Given the description of an element on the screen output the (x, y) to click on. 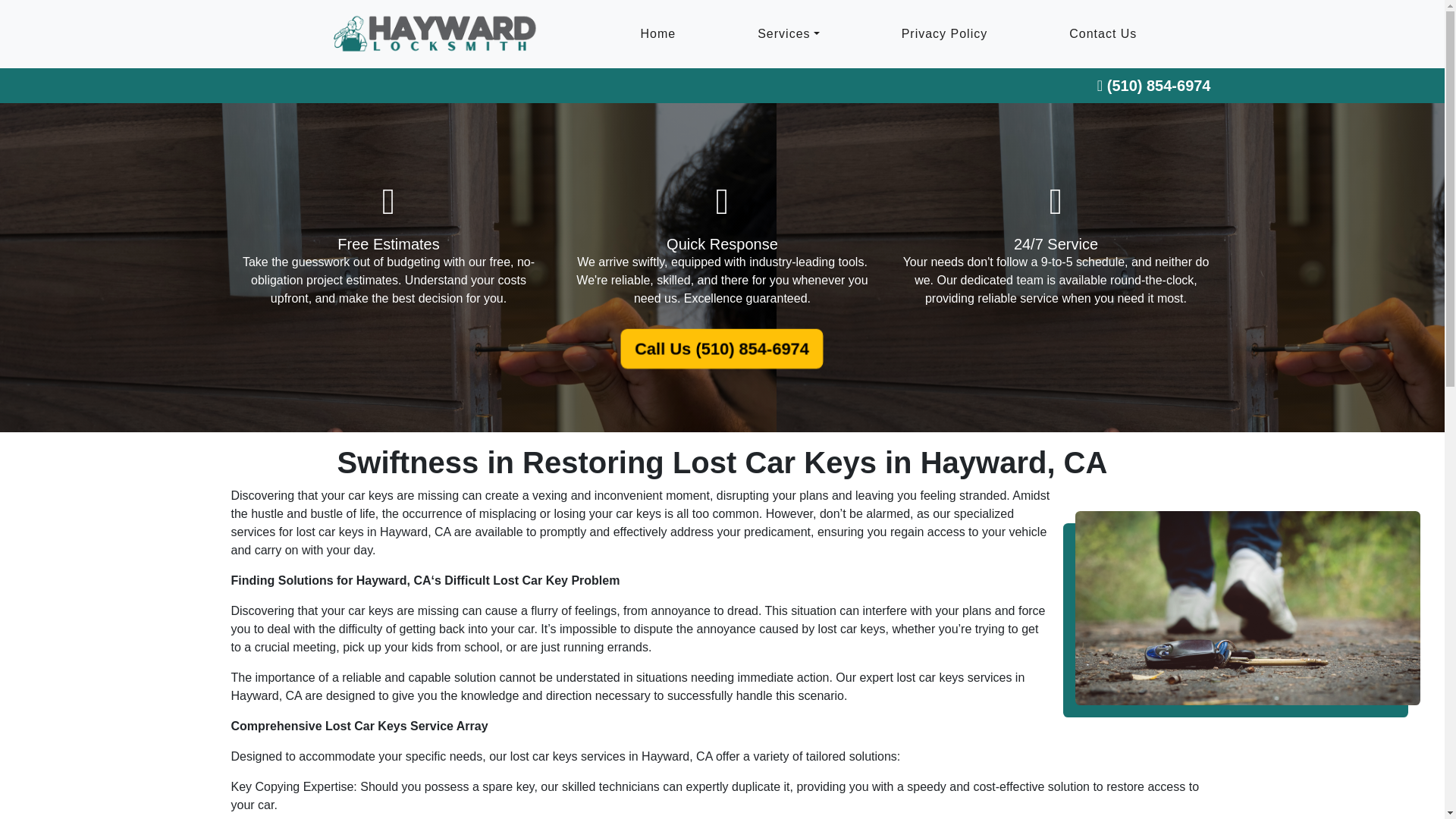
Privacy Policy (944, 34)
Contact Us (1102, 34)
Services (787, 34)
Home (657, 34)
